Given the description of an element on the screen output the (x, y) to click on. 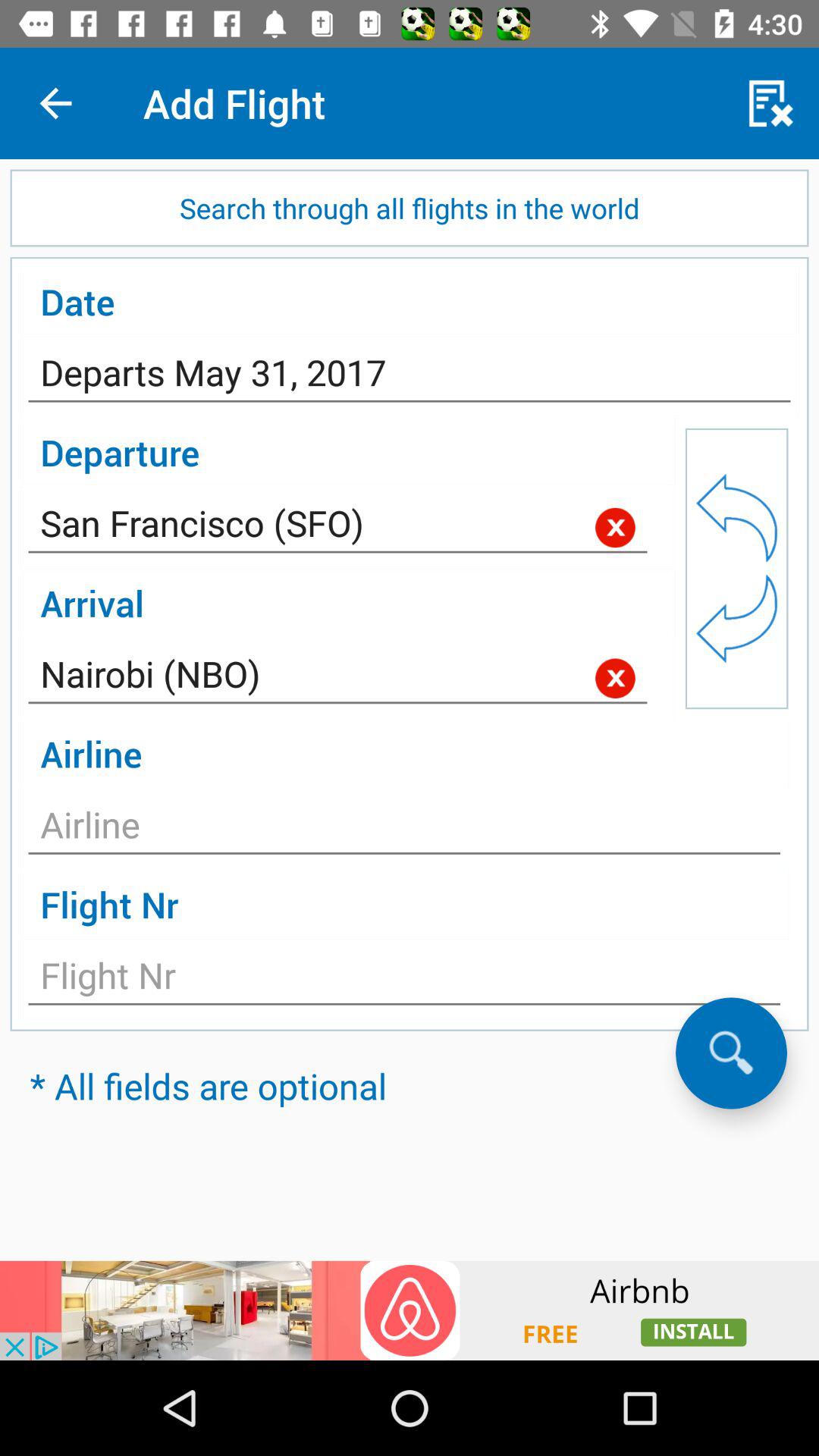
advertisement display in the screen (409, 1310)
